Given the description of an element on the screen output the (x, y) to click on. 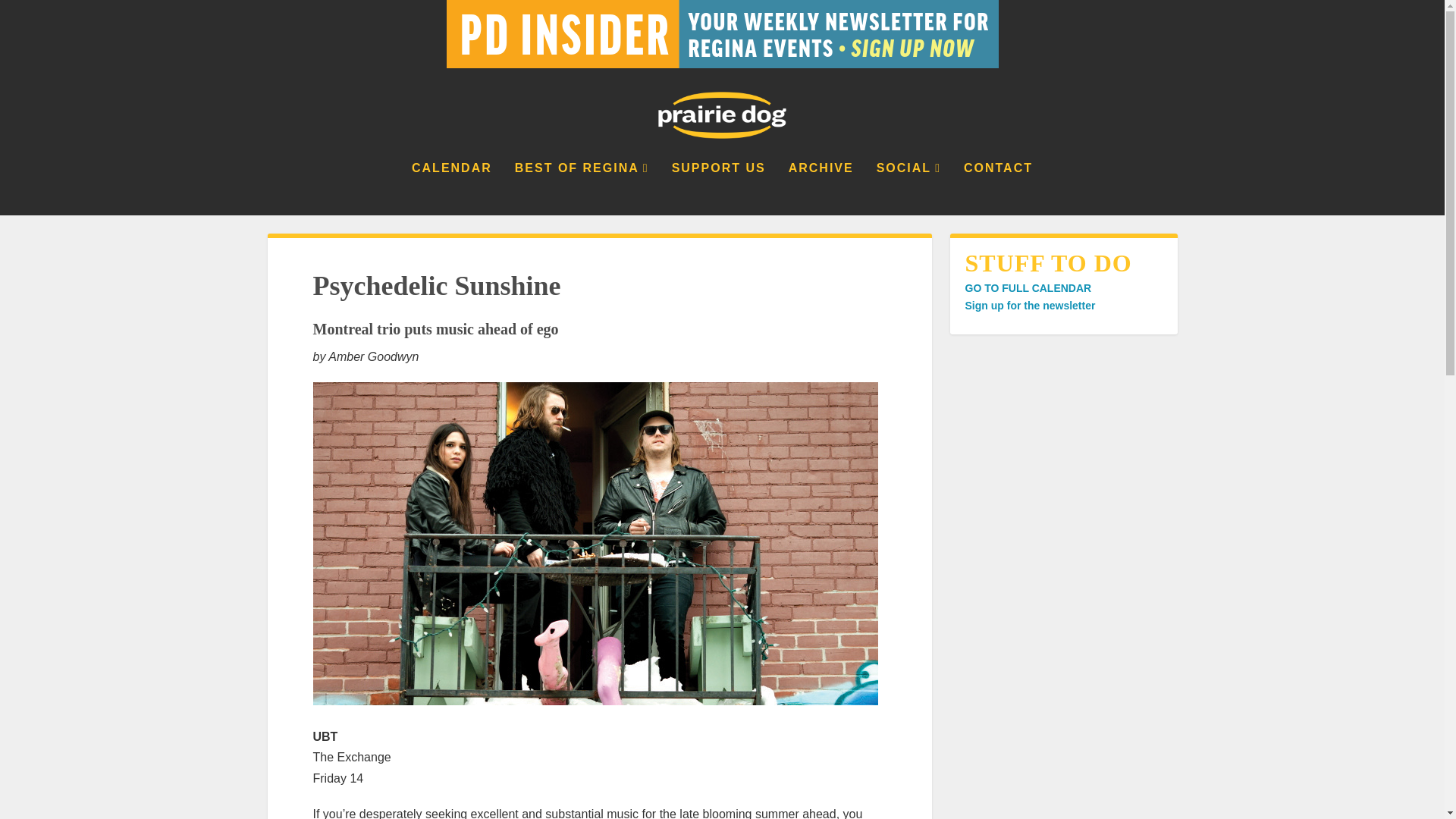
CALENDAR (452, 188)
ARCHIVE (821, 188)
SOCIAL (908, 188)
SUPPORT US (718, 188)
CONTACT (997, 188)
GO TO FULL CALENDAR (1026, 287)
BEST OF REGINA (582, 188)
Sign up for the newsletter (1028, 305)
